Given the description of an element on the screen output the (x, y) to click on. 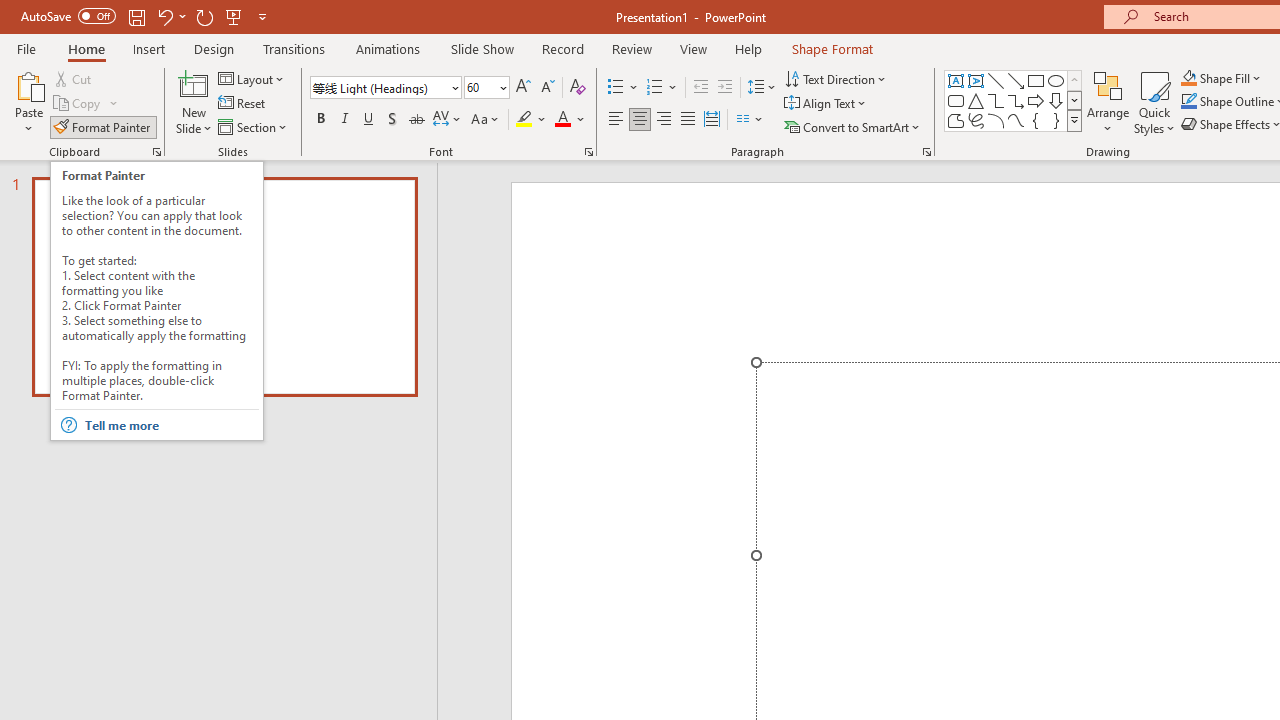
Undo (170, 15)
Copy (78, 103)
Line (995, 80)
Font (385, 87)
AutomationID: ShapesInsertGallery (1014, 100)
System (10, 11)
Quick Styles (1154, 102)
Shape Fill (1221, 78)
Center (639, 119)
Decrease Font Size (547, 87)
Shapes (1074, 120)
Numbering (654, 87)
Design (214, 48)
Curve (1016, 120)
Left Brace (1035, 120)
